Given the description of an element on the screen output the (x, y) to click on. 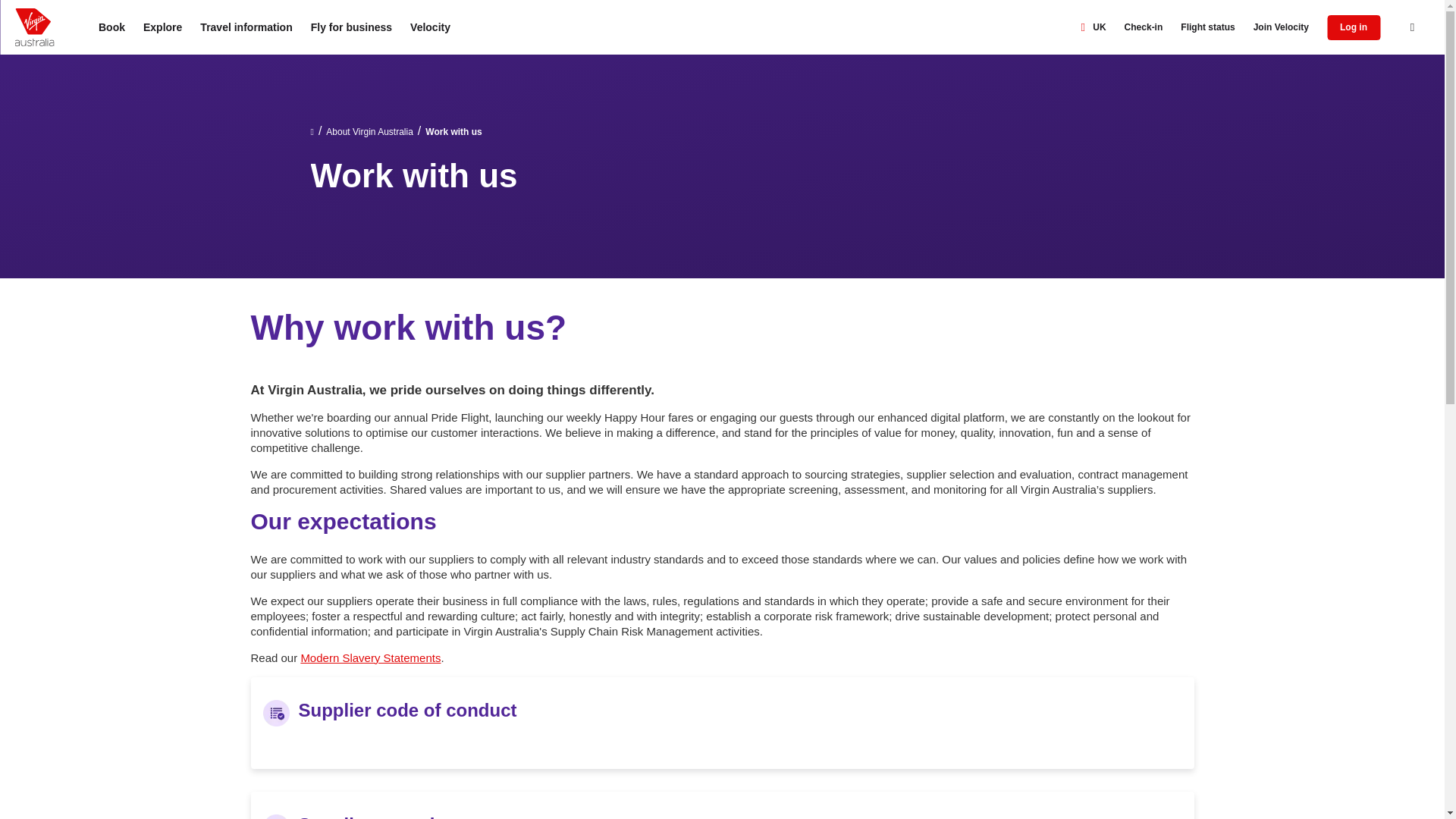
Join Velocity (1280, 26)
Book (111, 27)
Explore (162, 27)
VA Logo (33, 26)
